Given the description of an element on the screen output the (x, y) to click on. 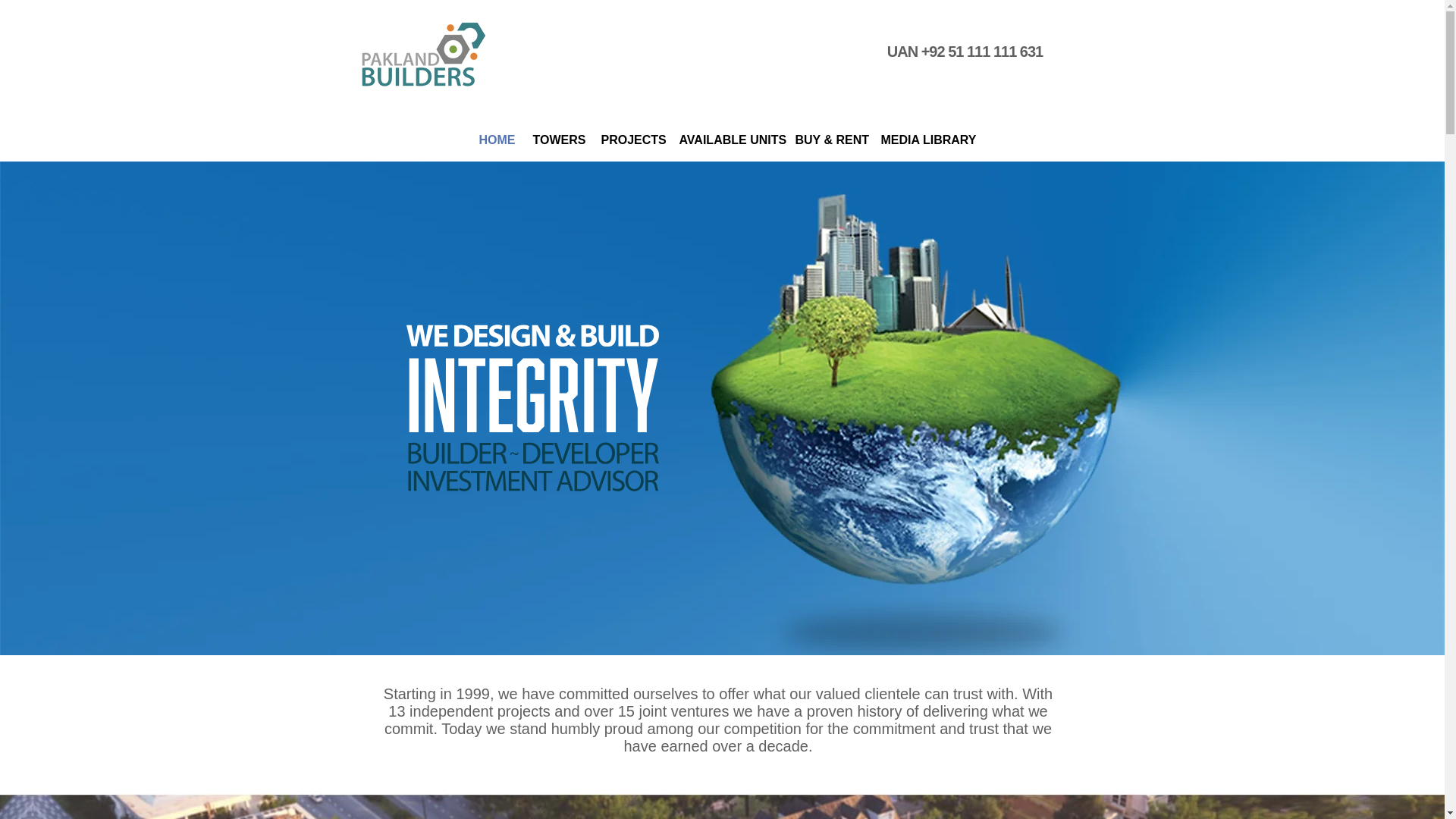
AVAILABLE UNITS (724, 139)
PROJECTS (628, 139)
HOME (494, 139)
MEDIA LIBRARY (921, 139)
